Given the description of an element on the screen output the (x, y) to click on. 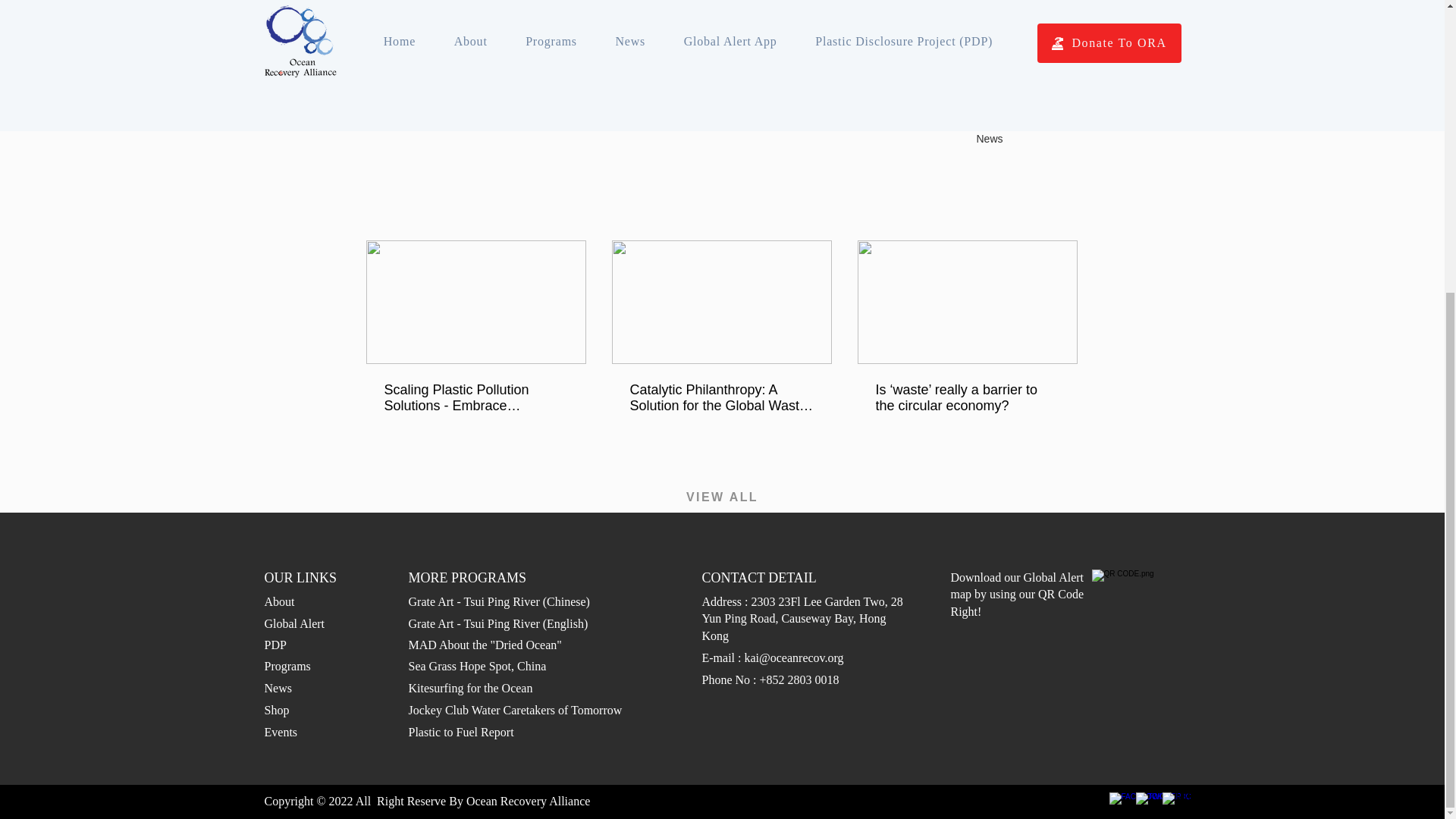
News (989, 138)
VIEW ALL (722, 497)
